Given the description of an element on the screen output the (x, y) to click on. 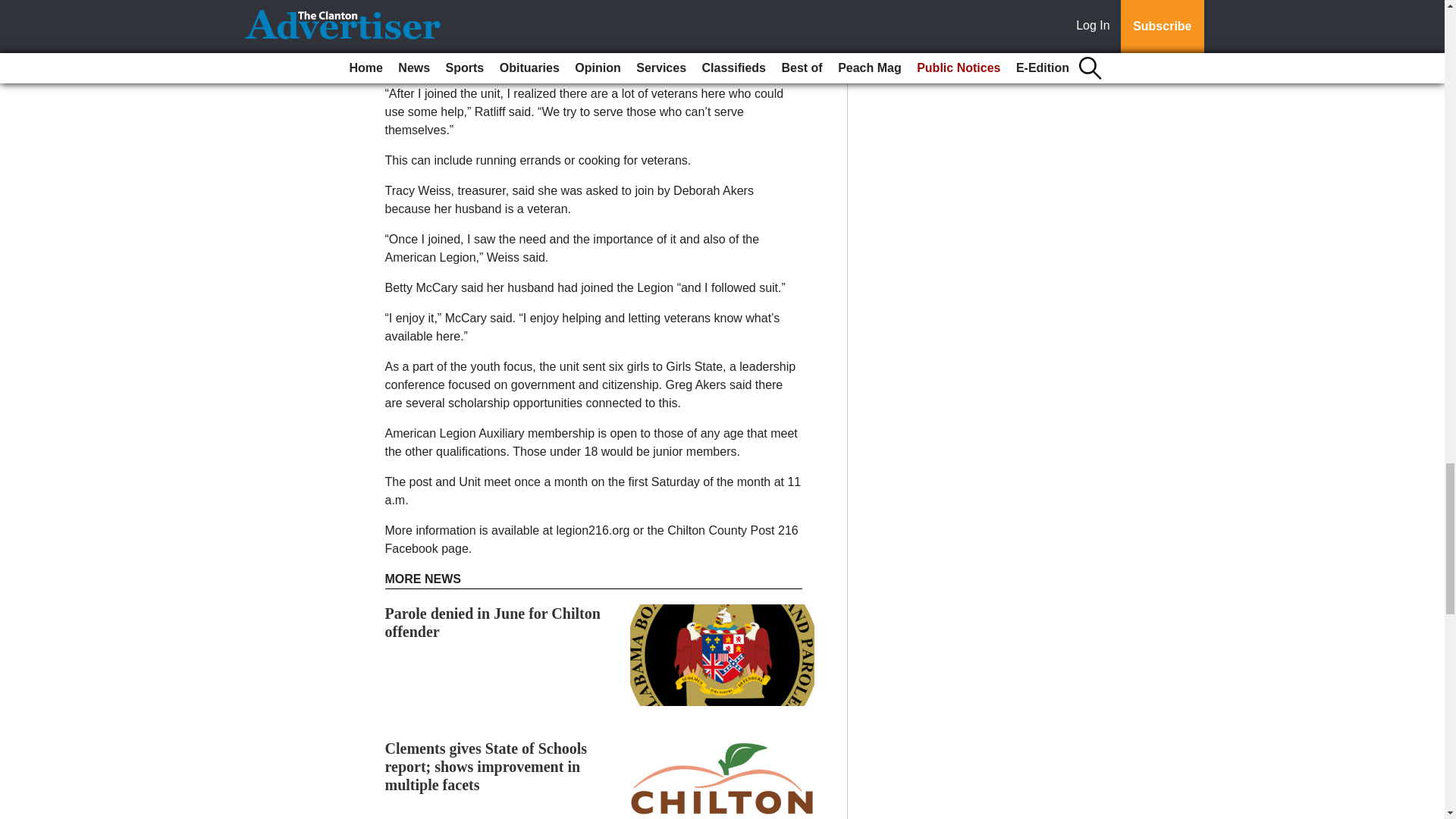
Parole denied in June for Chilton offender (492, 622)
Parole denied in June for Chilton offender (492, 622)
